Given the description of an element on the screen output the (x, y) to click on. 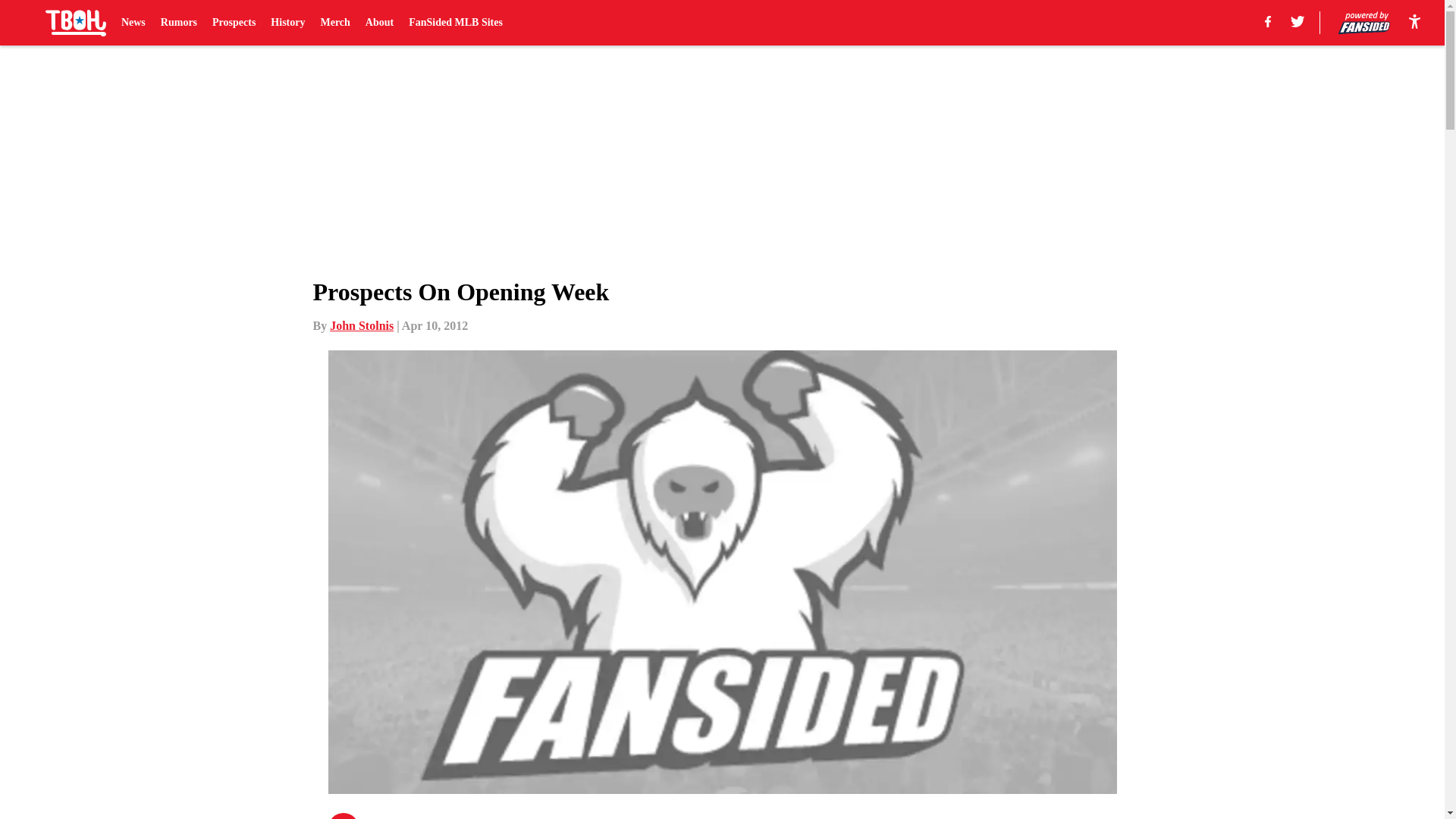
Rumors (178, 22)
About (379, 22)
FanSided MLB Sites (455, 22)
Merch (334, 22)
Prospects (234, 22)
John Stolnis (361, 325)
History (287, 22)
News (132, 22)
